Given the description of an element on the screen output the (x, y) to click on. 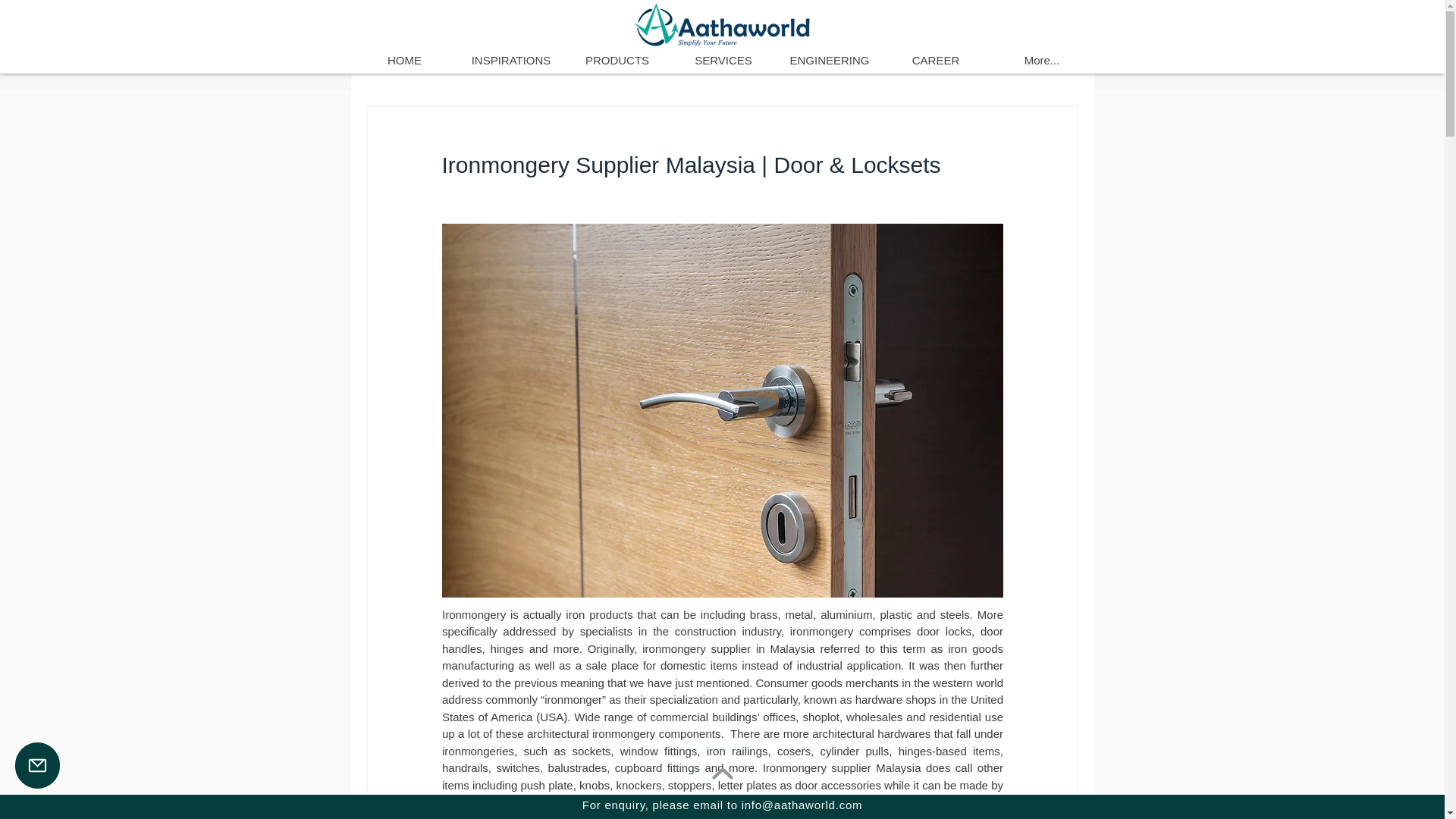
INSPIRATIONS (511, 60)
HOME (405, 60)
SERVICES (722, 60)
CAREER (935, 60)
